Given the description of an element on the screen output the (x, y) to click on. 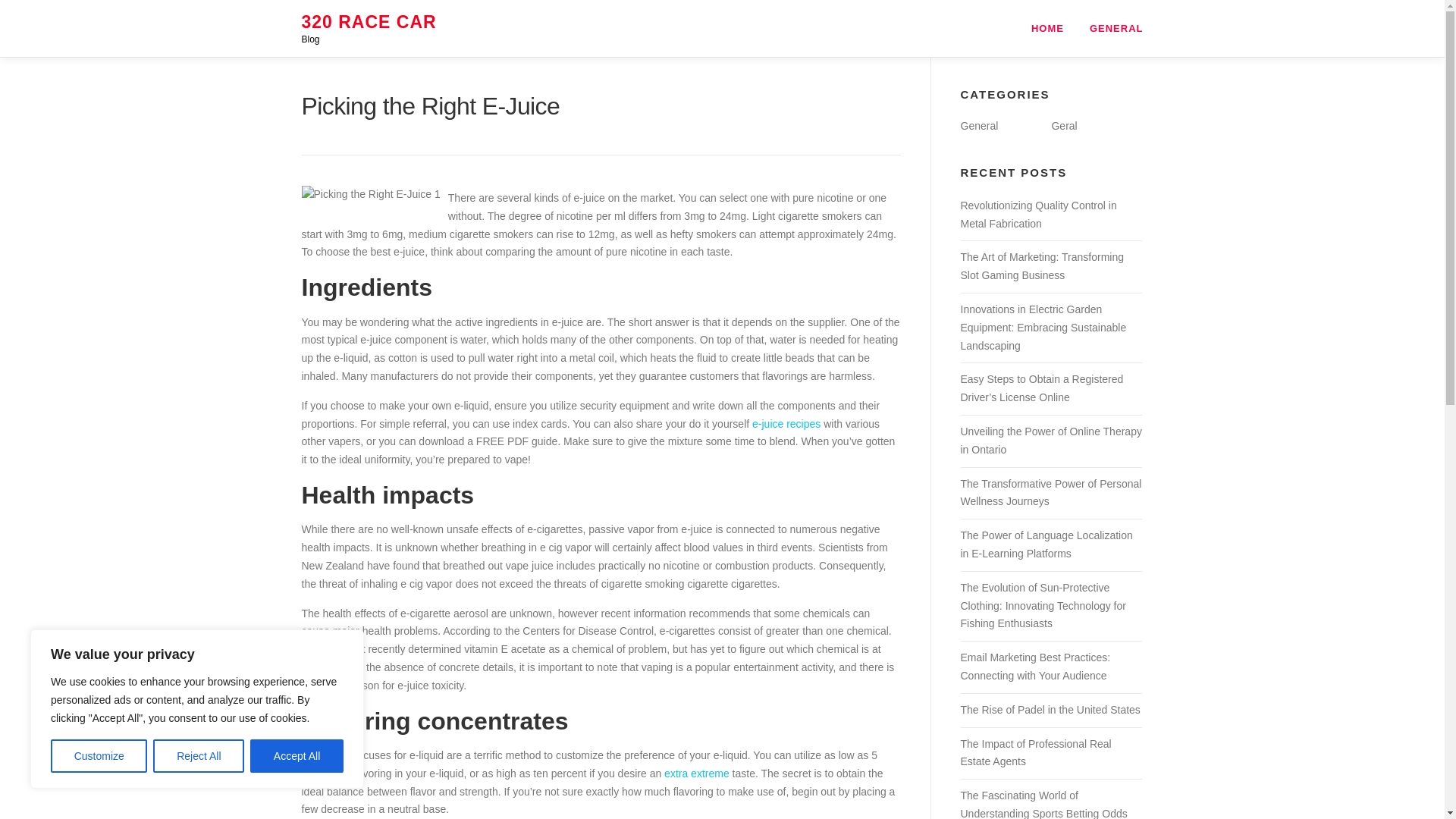
The Art of Marketing: Transforming Slot Gaming Business (1041, 265)
e-juice recipes (786, 423)
320 RACE CAR (368, 21)
HOME (1047, 28)
Revolutionizing Quality Control in Metal Fabrication (1037, 214)
GENERAL (1109, 28)
The Power of Language Localization in E-Learning Platforms (1045, 544)
Geral (1064, 125)
Reject All (198, 756)
The Transformative Power of Personal Wellness Journeys (1050, 492)
Accept All (296, 756)
Customize (98, 756)
General (978, 125)
